Given the description of an element on the screen output the (x, y) to click on. 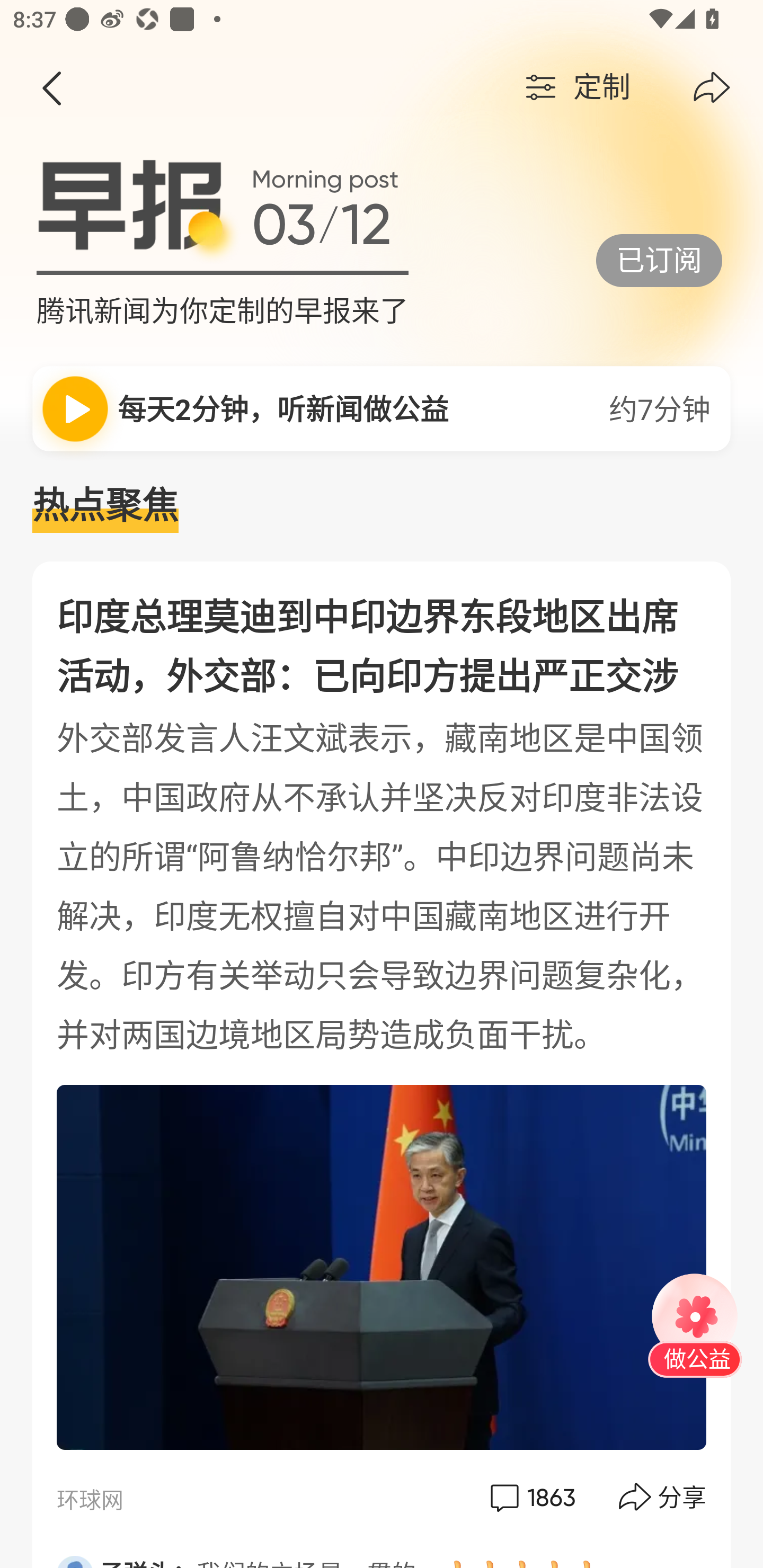
 (50, 87)
 定制 (575, 87)
 (711, 87)
已订阅 (658, 259)
 每天2分钟，听新闻做公益 约7分钟 (381, 407)
热点聚焦 (381, 506)
评论  1863 (531, 1497)
 分享 (663, 1497)
